Given the description of an element on the screen output the (x, y) to click on. 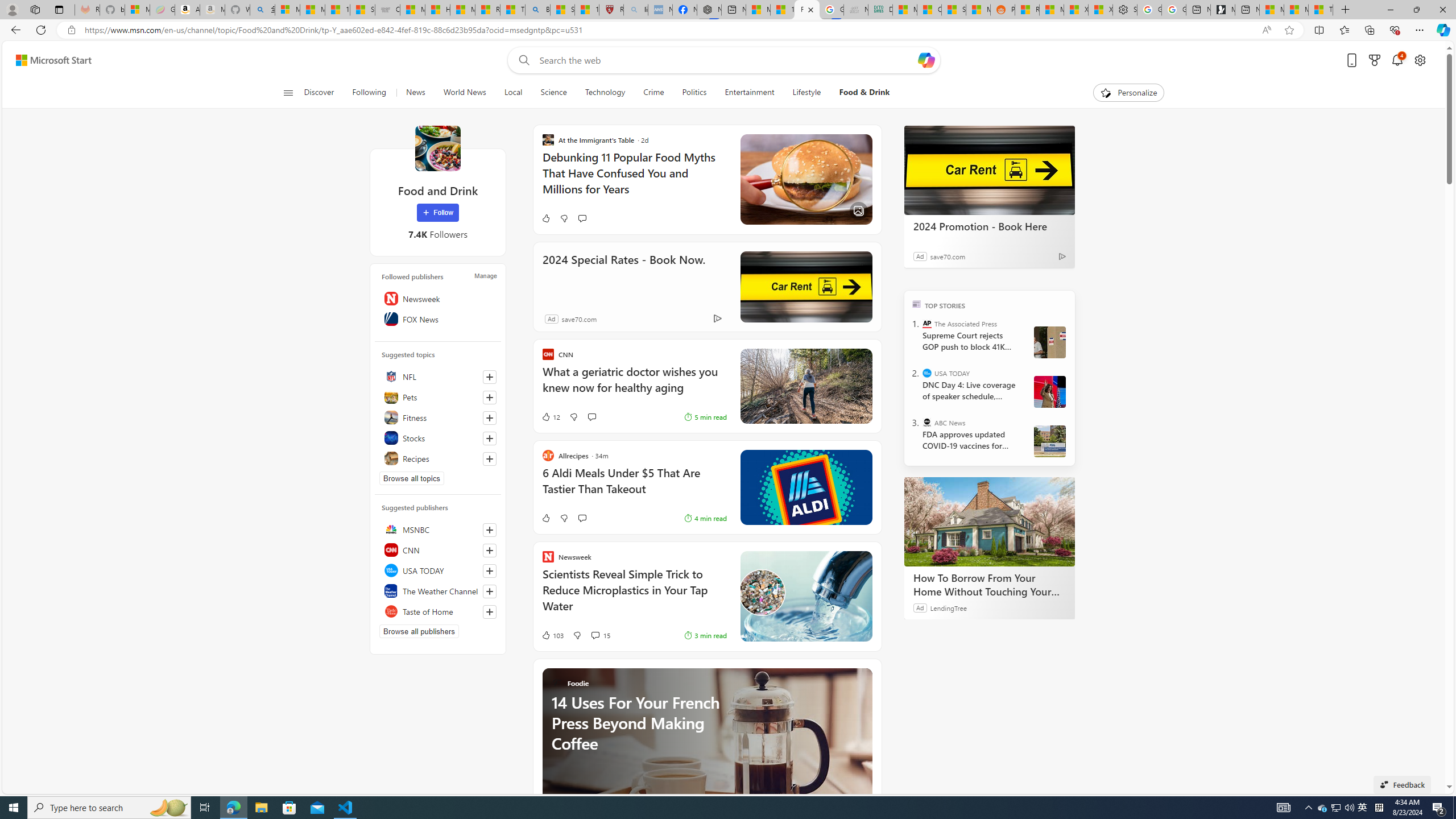
2024 Special Rates - Book Now. (622, 274)
2024 Special Rates - Book Now.Adsave70.com (707, 286)
ABC News (927, 422)
